Given the description of an element on the screen output the (x, y) to click on. 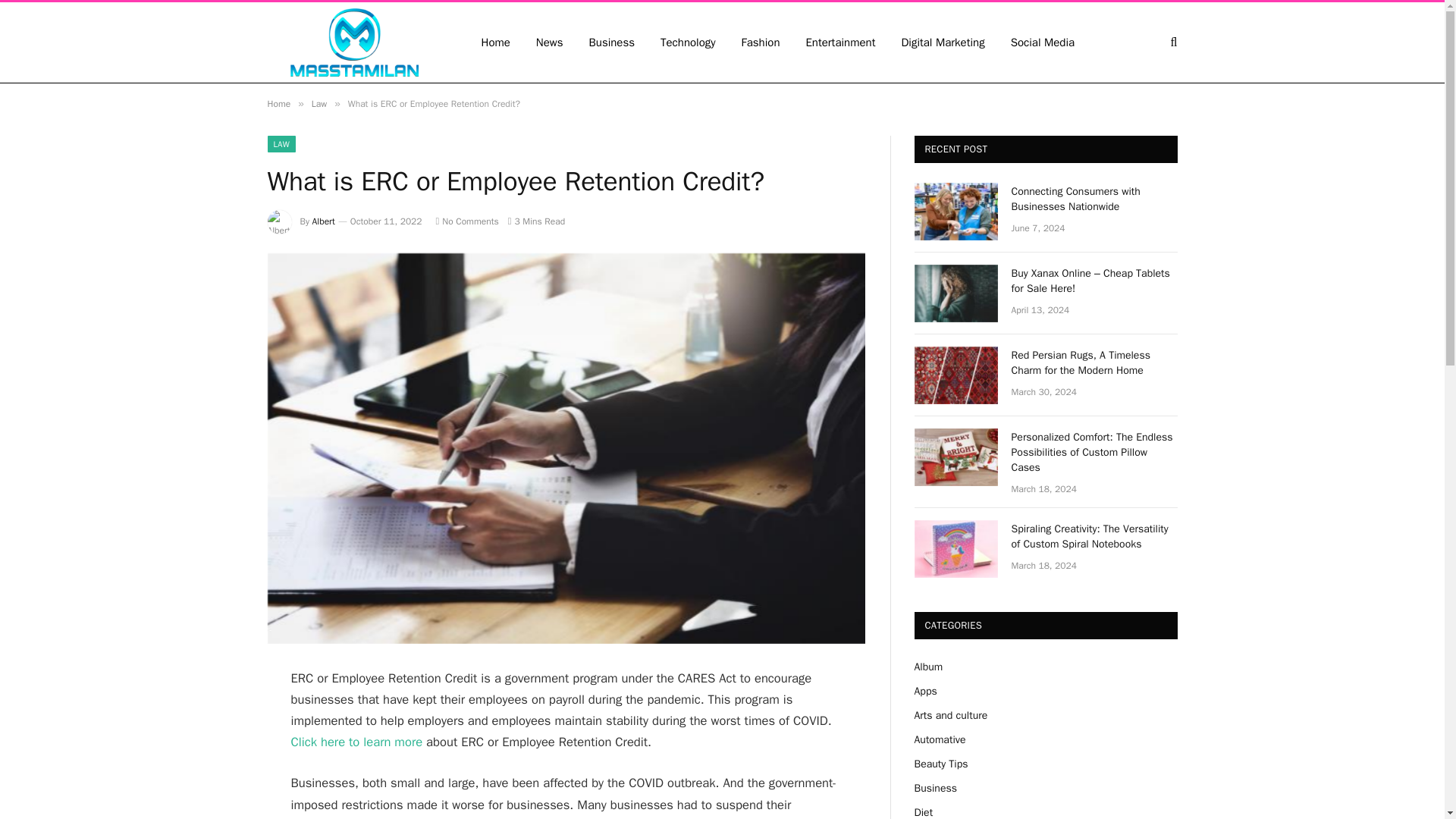
Posts by Albert (323, 221)
Albert (323, 221)
LAW (280, 143)
Law (318, 103)
Home (277, 103)
No Comments (466, 221)
Entertainment (840, 42)
Masstamilan (353, 42)
Digital Marketing (942, 42)
